Given the description of an element on the screen output the (x, y) to click on. 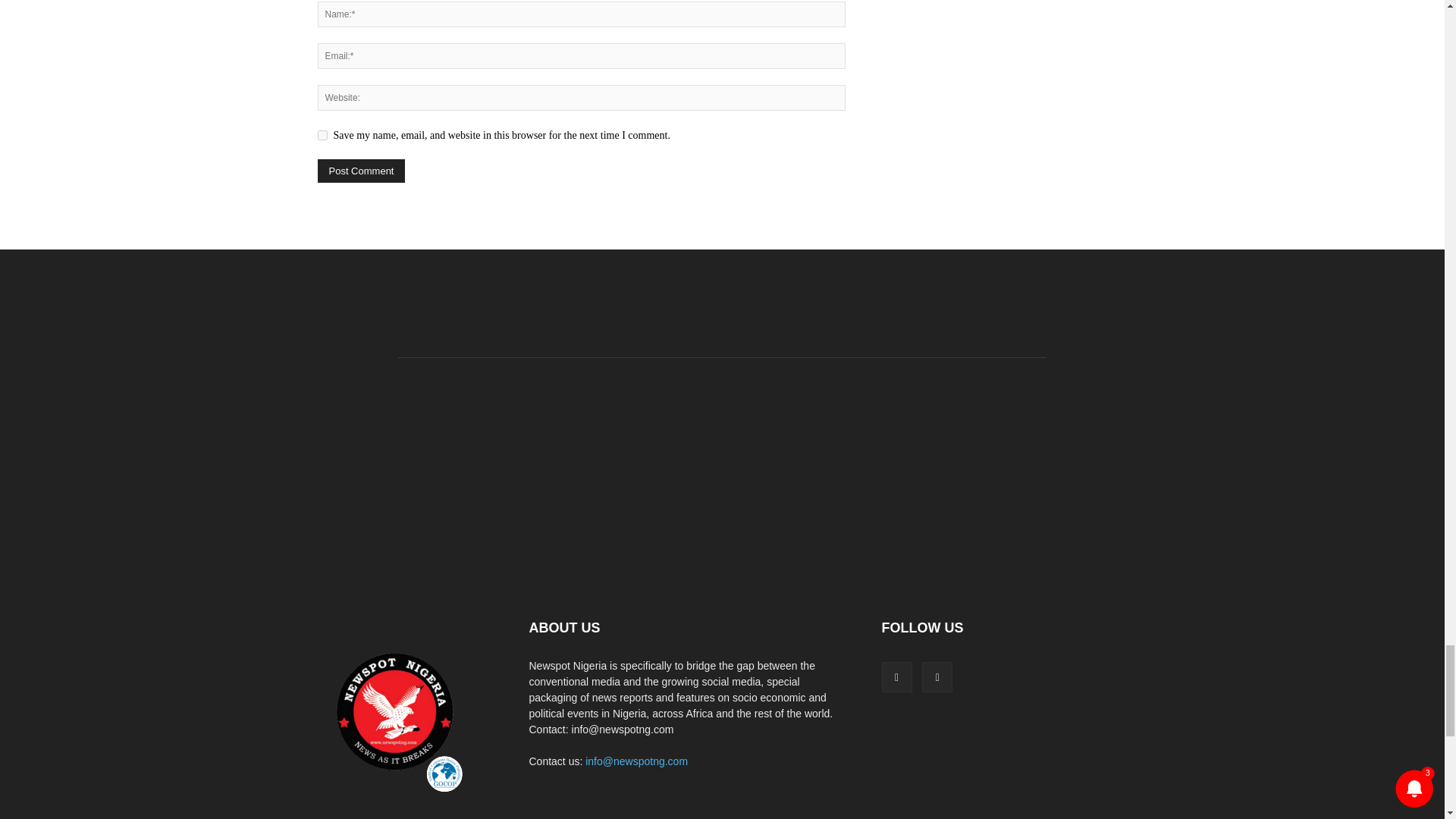
yes (321, 135)
Post Comment (360, 170)
